Given the description of an element on the screen output the (x, y) to click on. 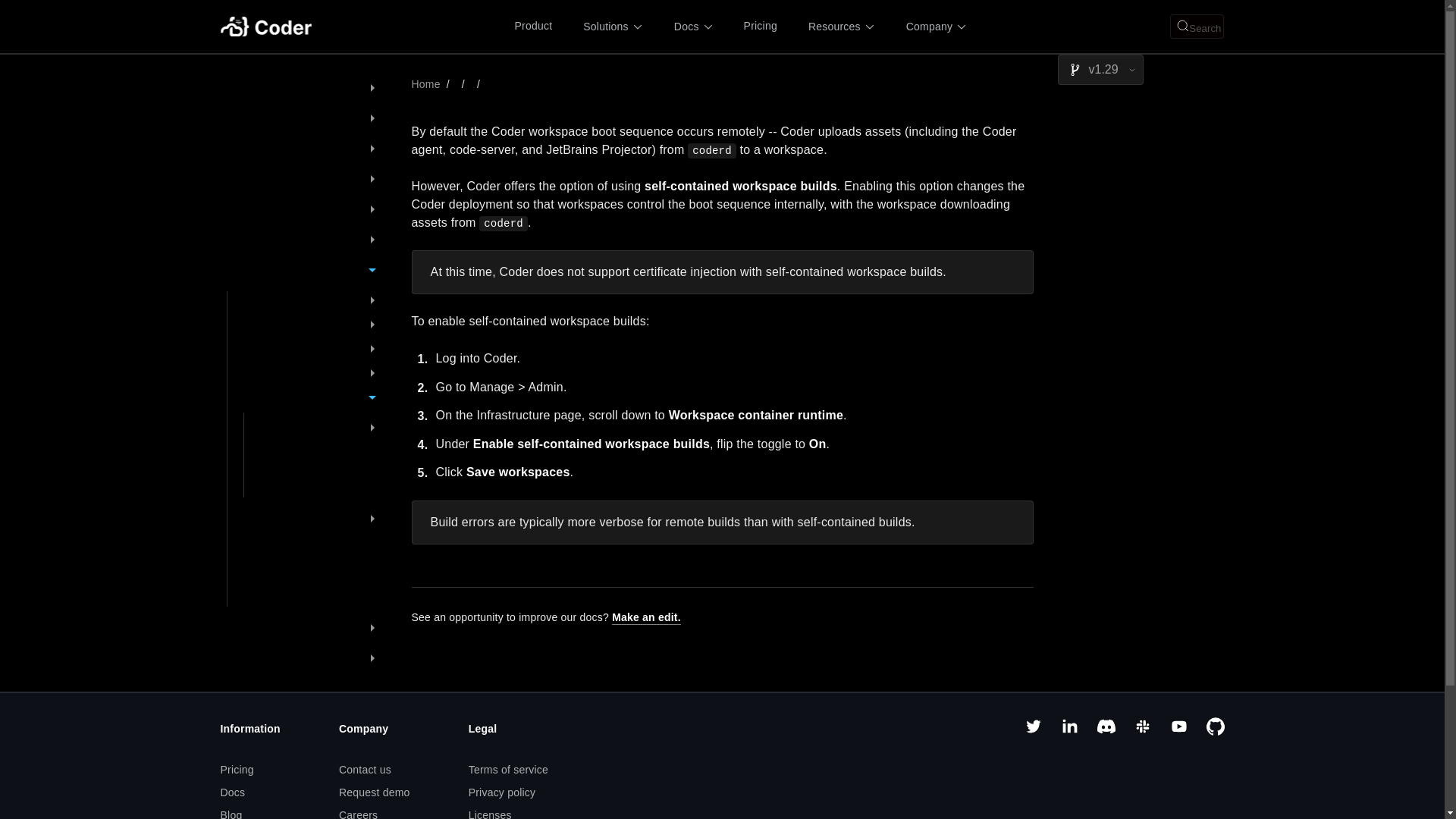
Product (534, 26)
Pricing (760, 26)
Discord (1105, 731)
Search (1197, 26)
Home (424, 83)
Slack (1141, 731)
